Given the description of an element on the screen output the (x, y) to click on. 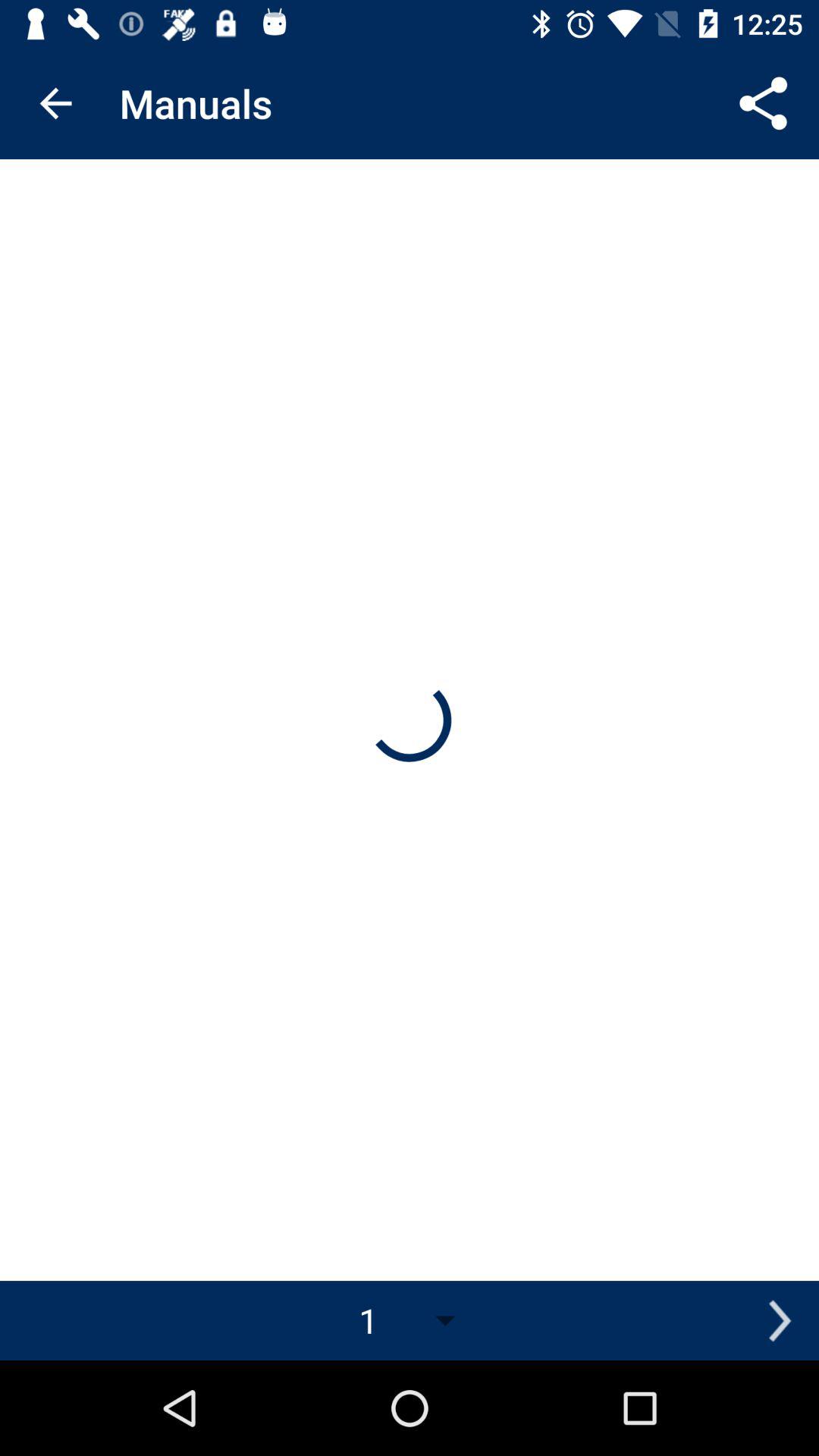
turn on the item next to manuals (55, 103)
